Given the description of an element on the screen output the (x, y) to click on. 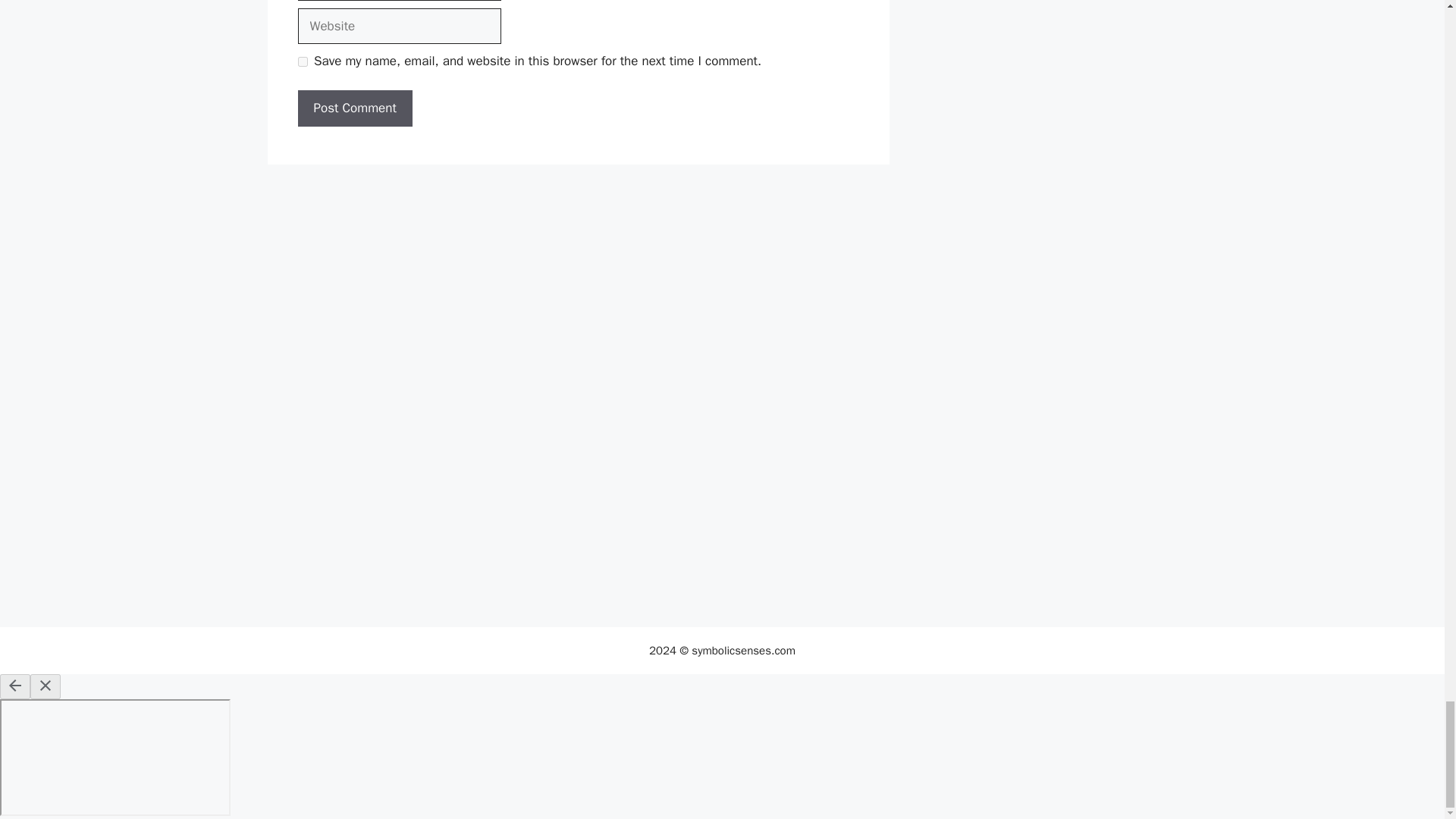
Post Comment (354, 108)
Post Comment (354, 108)
yes (302, 61)
